Given the description of an element on the screen output the (x, y) to click on. 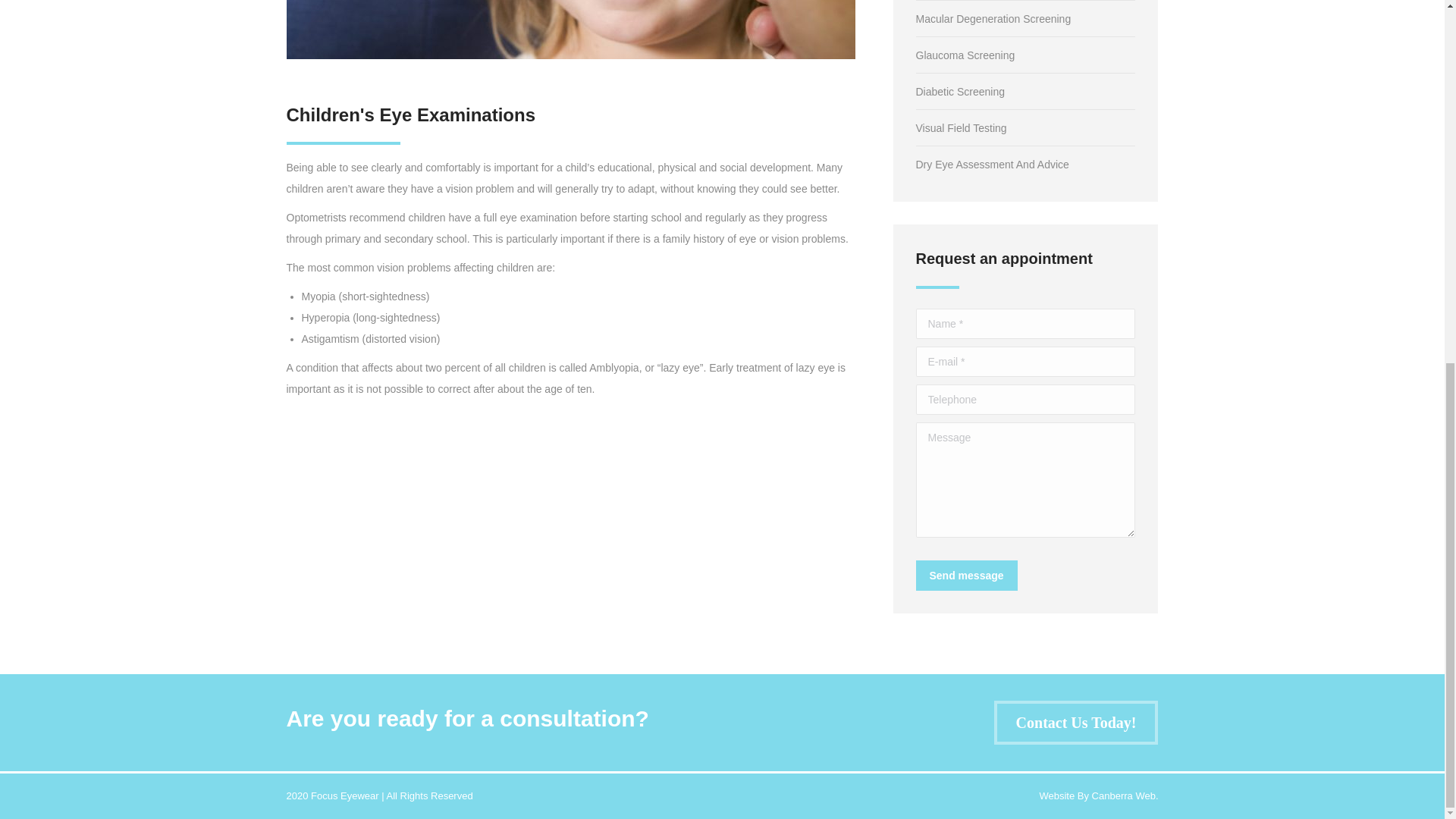
submit (1057, 576)
